Given the description of an element on the screen output the (x, y) to click on. 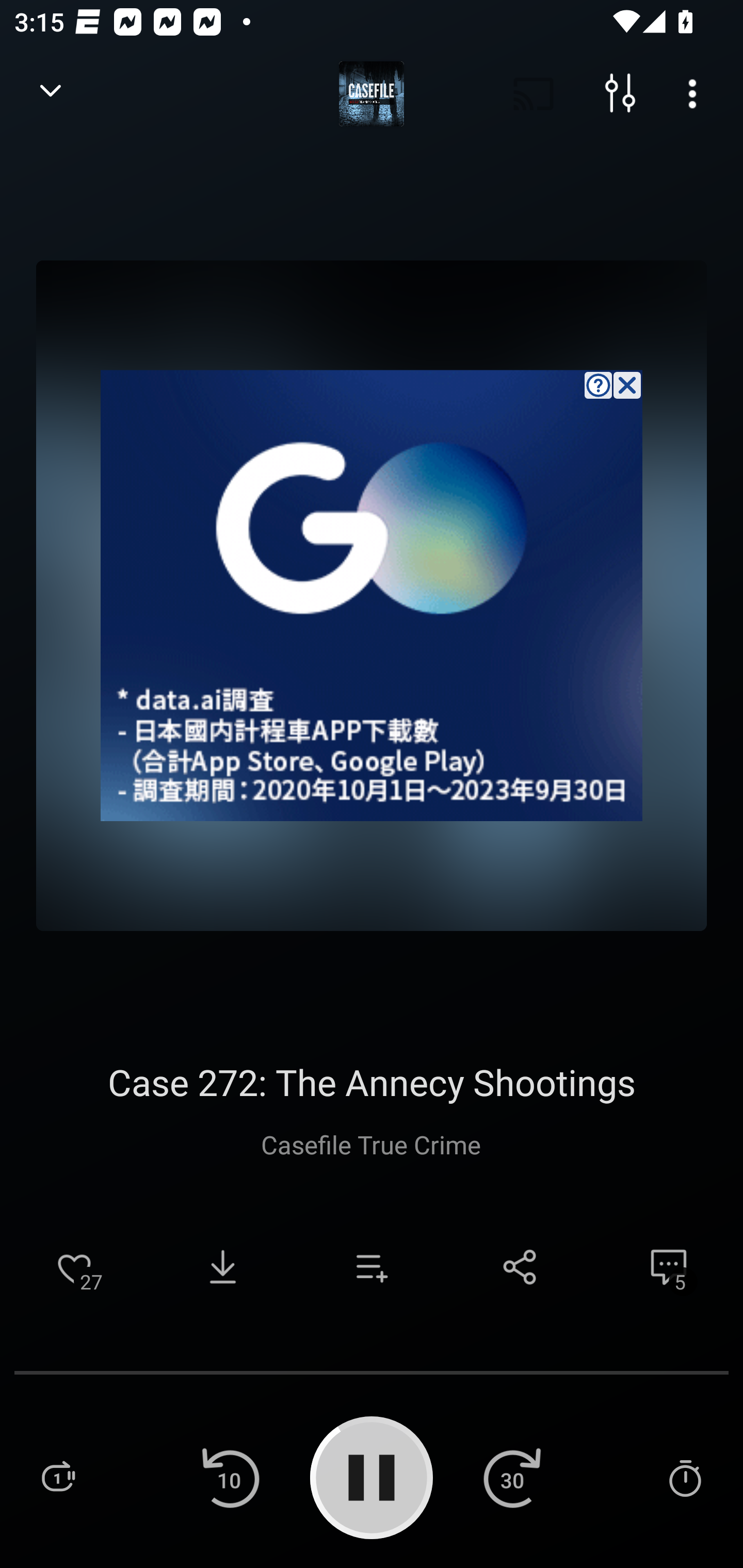
Cast. Disconnected (533, 93)
 Back (50, 94)
xdA0vN2_1708321043062_0 (371, 595)
Case 272: The Annecy Shootings (370, 1081)
Casefile True Crime (371, 1144)
5 Comments (668, 1266)
Add to Favorites (73, 1266)
Add to playlist (371, 1266)
Share (519, 1266)
 Playlist (57, 1477)
Sleep Timer  (684, 1477)
